Given the description of an element on the screen output the (x, y) to click on. 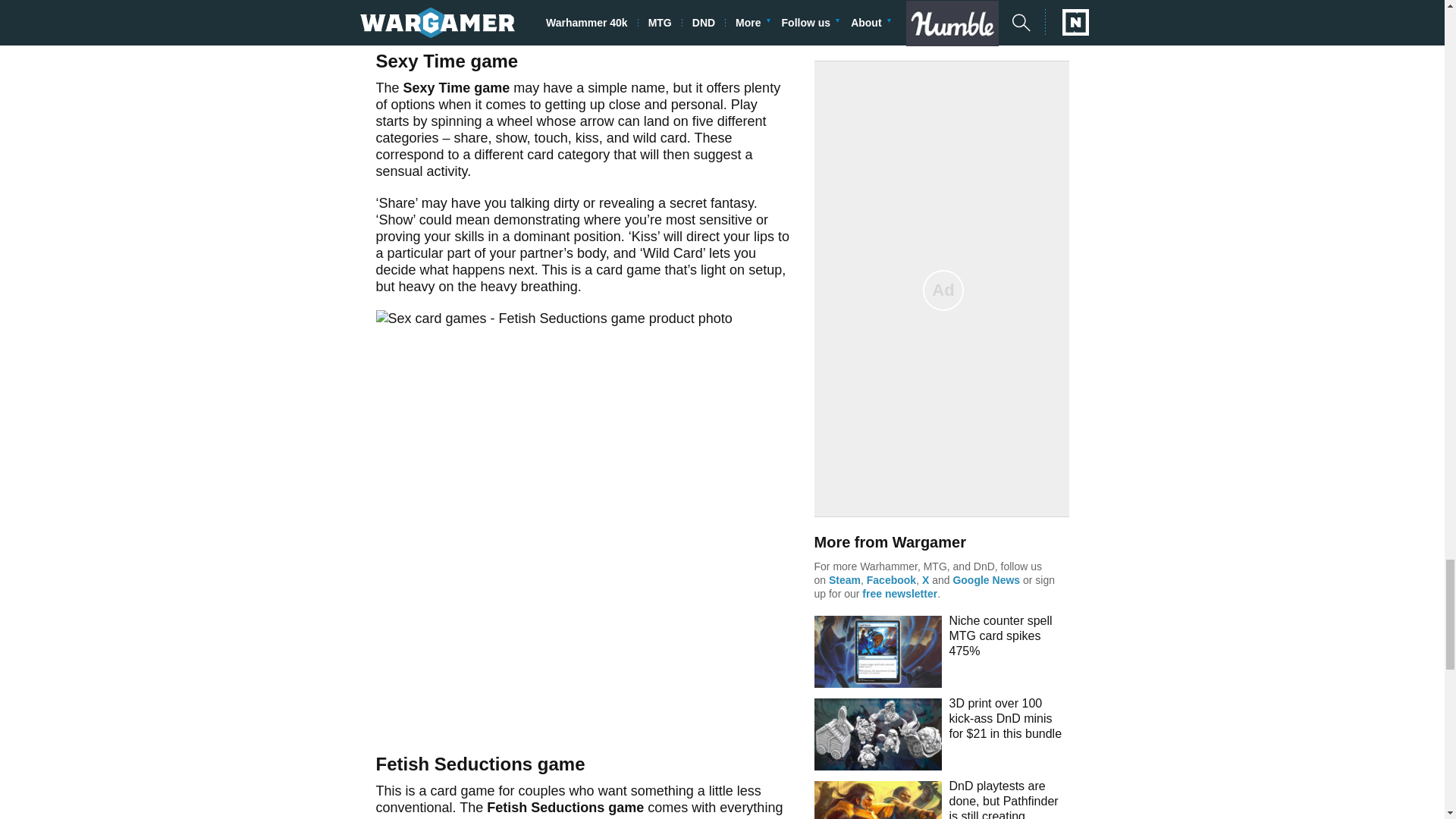
sex-card-games-sexy-time-game (584, 12)
